Given the description of an element on the screen output the (x, y) to click on. 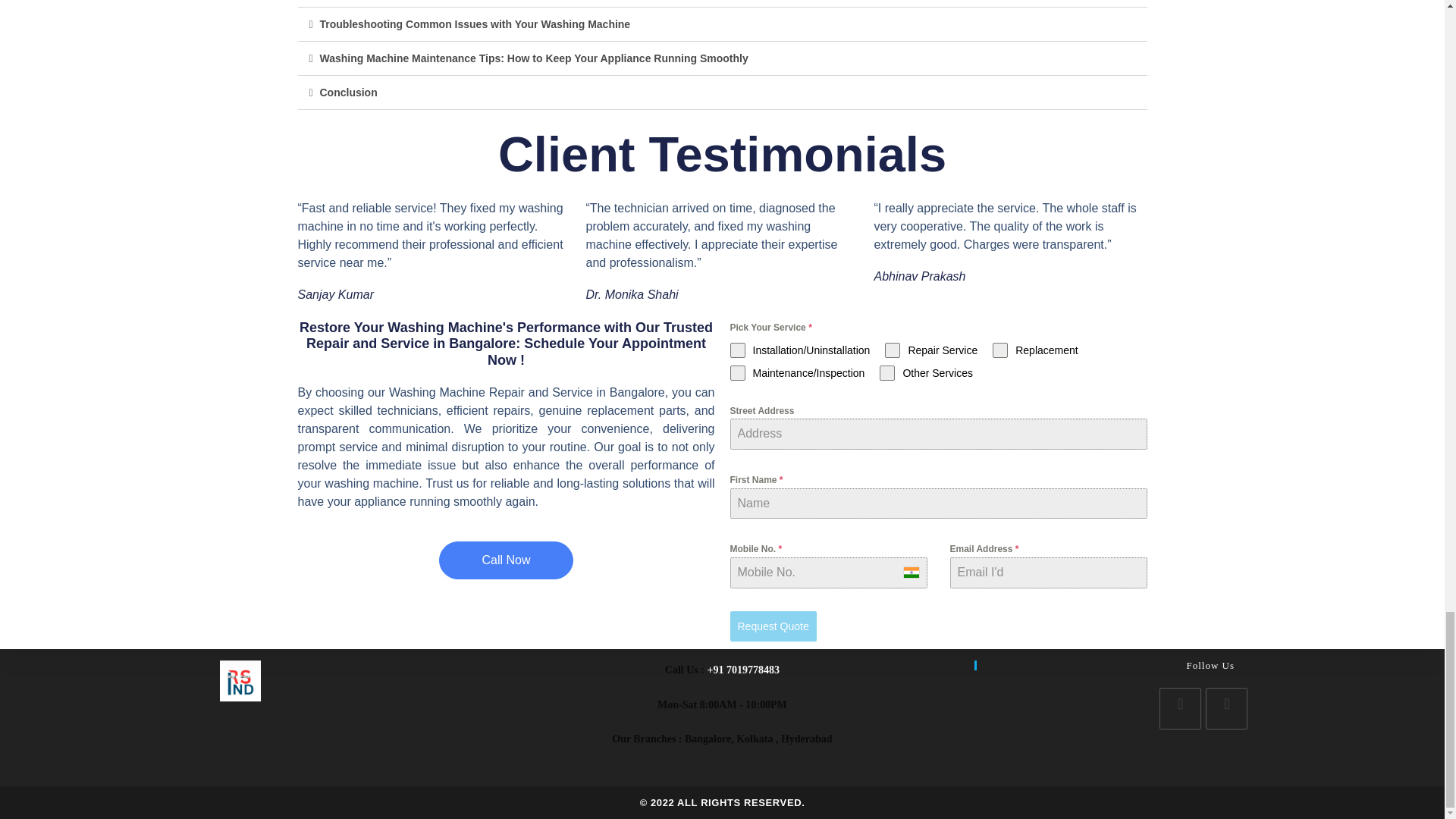
Repair Service (930, 350)
